Given the description of an element on the screen output the (x, y) to click on. 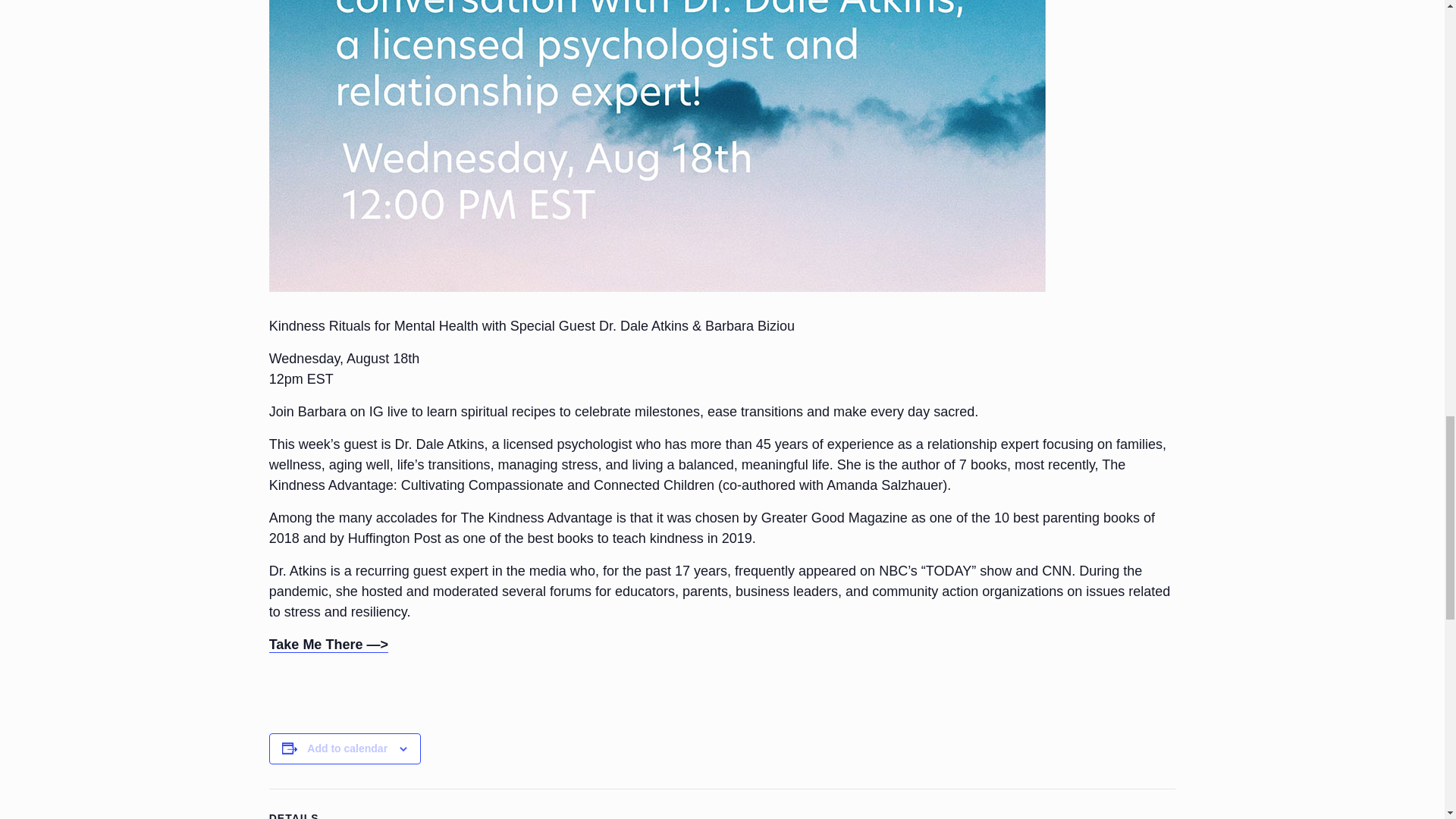
Add to calendar (347, 748)
